Given the description of an element on the screen output the (x, y) to click on. 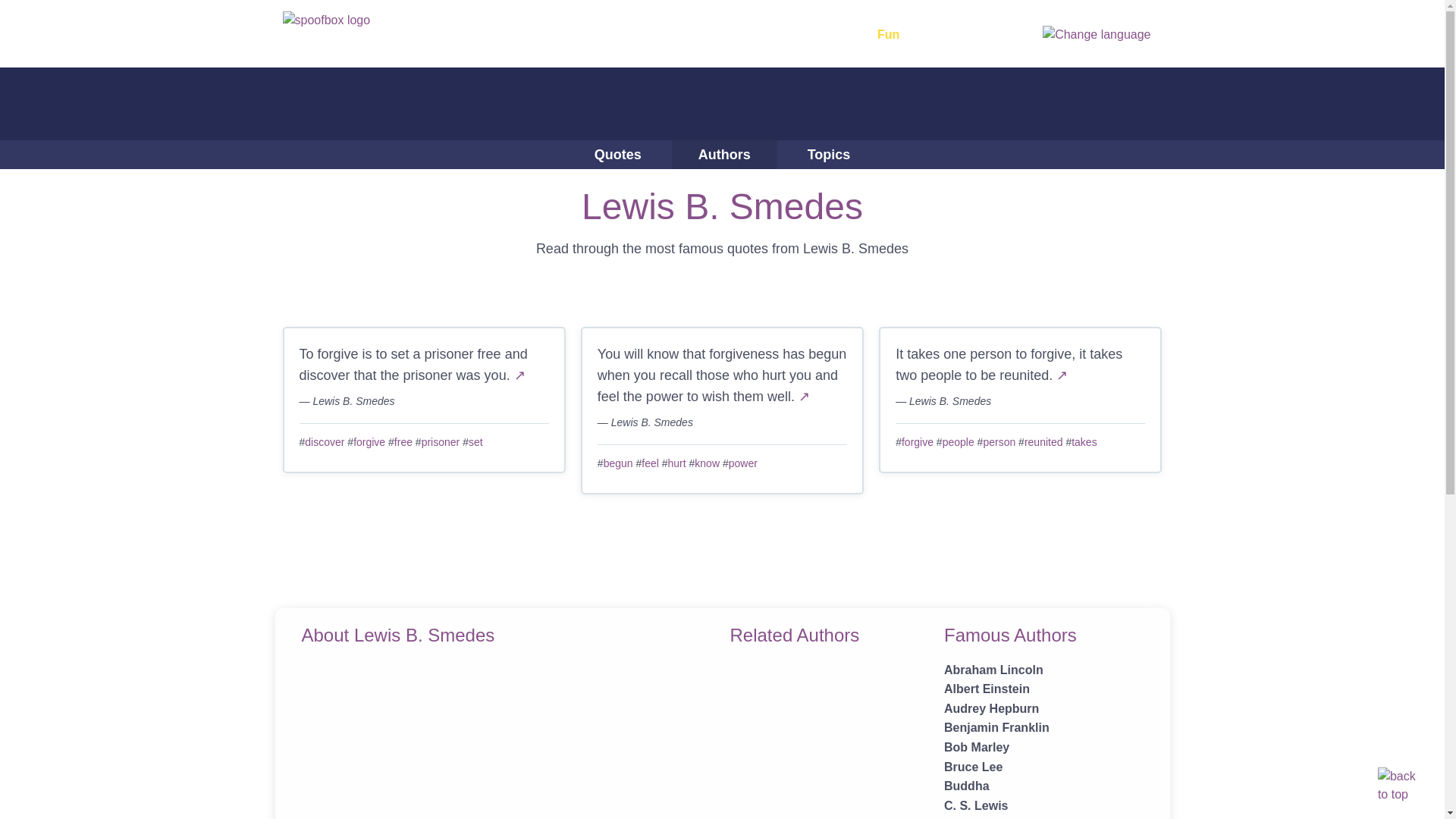
Change language (1096, 33)
Tools (823, 34)
Authors (724, 154)
Login (992, 34)
Fun (895, 34)
Buy (949, 34)
discover (323, 441)
Quotes (617, 154)
Spoof (744, 34)
Pranks (662, 34)
